Given the description of an element on the screen output the (x, y) to click on. 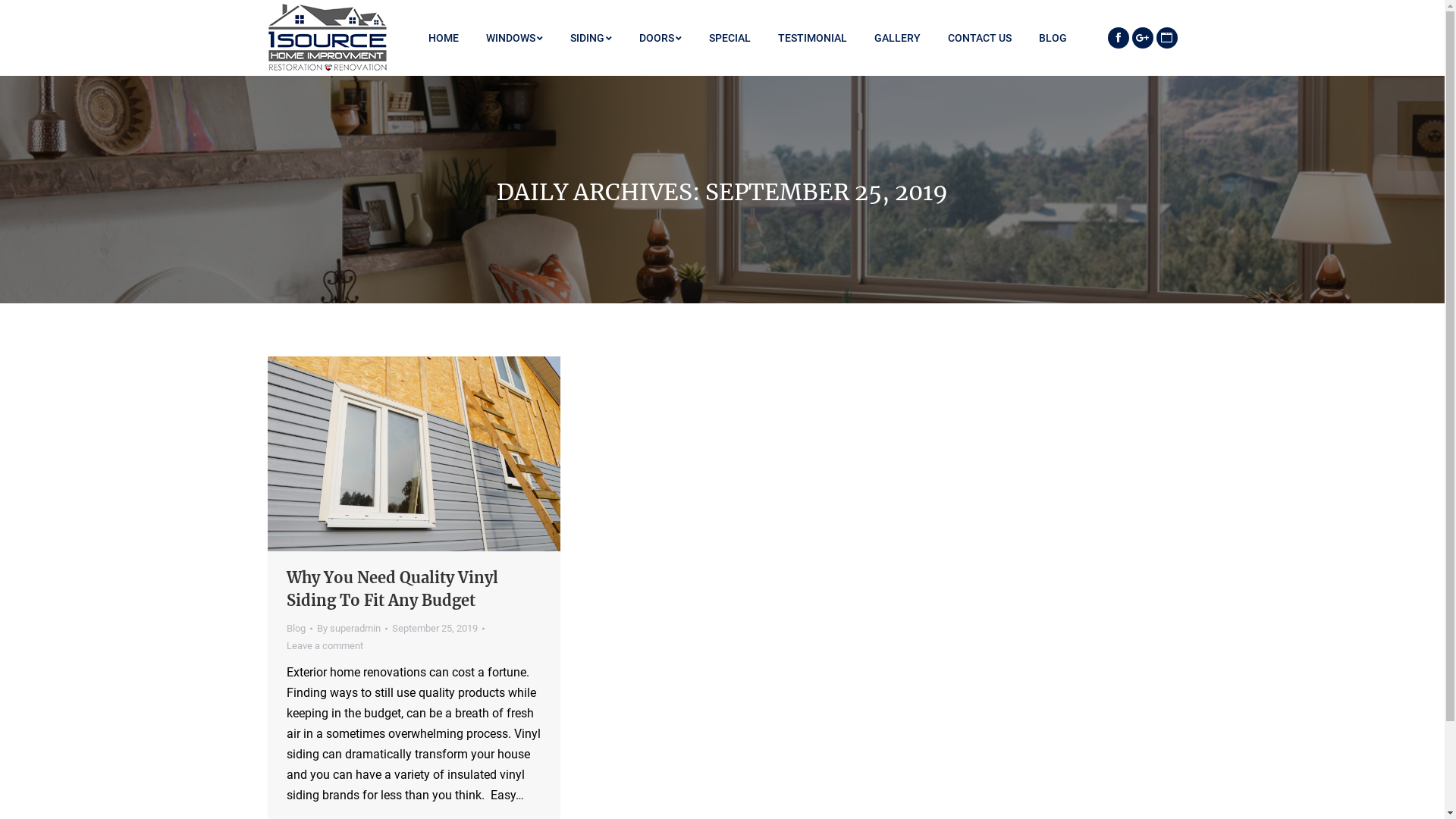
DOORS Element type: text (659, 37)
Leave a comment Element type: text (324, 645)
SIDING Element type: text (591, 37)
WINDOWS Element type: text (513, 37)
Blog Element type: text (295, 627)
shutterstock_700859902 Element type: hover (412, 453)
By superadmin Element type: text (351, 628)
GALLERY Element type: text (896, 37)
Google+ Element type: text (1141, 37)
SPECIAL Element type: text (729, 37)
Facebook Element type: text (1117, 37)
HOME Element type: text (442, 37)
September 25, 2019 Element type: text (437, 628)
TESTIMONIAL Element type: text (812, 37)
CONTACT US Element type: text (979, 37)
Why You Need Quality Vinyl Siding To Fit Any Budget Element type: text (413, 588)
BLOG Element type: text (1052, 37)
Website Element type: text (1165, 37)
